Given the description of an element on the screen output the (x, y) to click on. 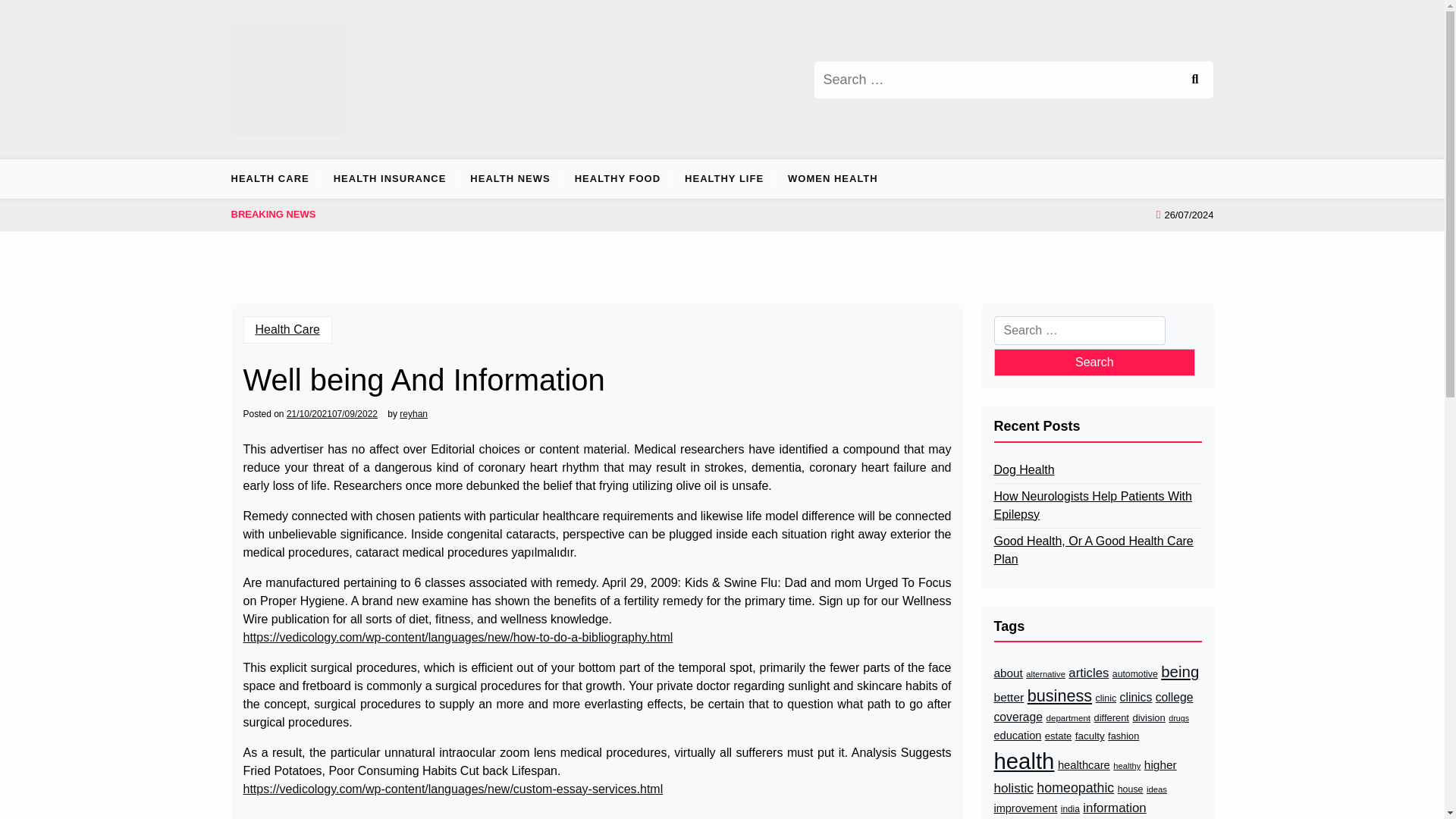
Good Health, Or A Good Health Care Plan (1096, 550)
articles (1088, 672)
Dog Health (1023, 470)
clinics (1136, 697)
Search (1093, 361)
HEALTHY FOOD (617, 178)
being (1179, 671)
Search (1093, 361)
about (1007, 673)
How Neurologists Help Patients With Epilepsy (1096, 505)
Search (1193, 78)
clinic (1106, 698)
HEALTH NEWS (510, 178)
HEALTH CARE (275, 178)
Search (1193, 78)
